Given the description of an element on the screen output the (x, y) to click on. 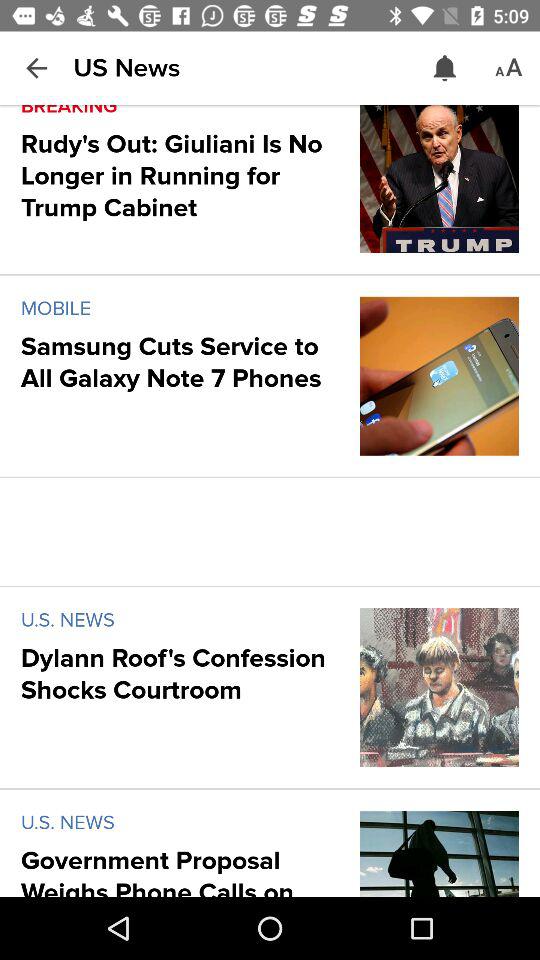
click icon above the breaking icon (36, 68)
